Given the description of an element on the screen output the (x, y) to click on. 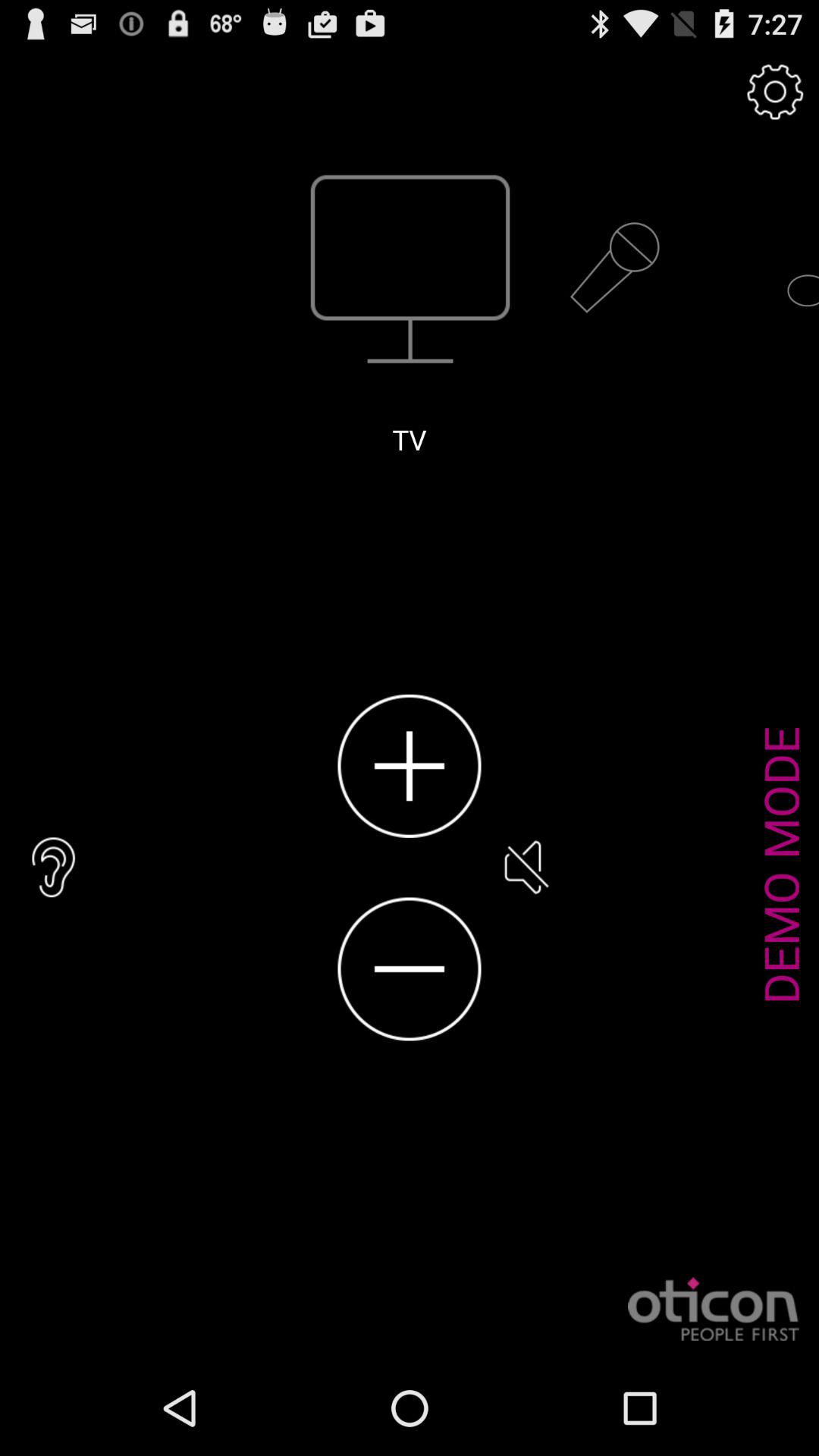
select item to the left of the demo mode item (524, 867)
